Given the description of an element on the screen output the (x, y) to click on. 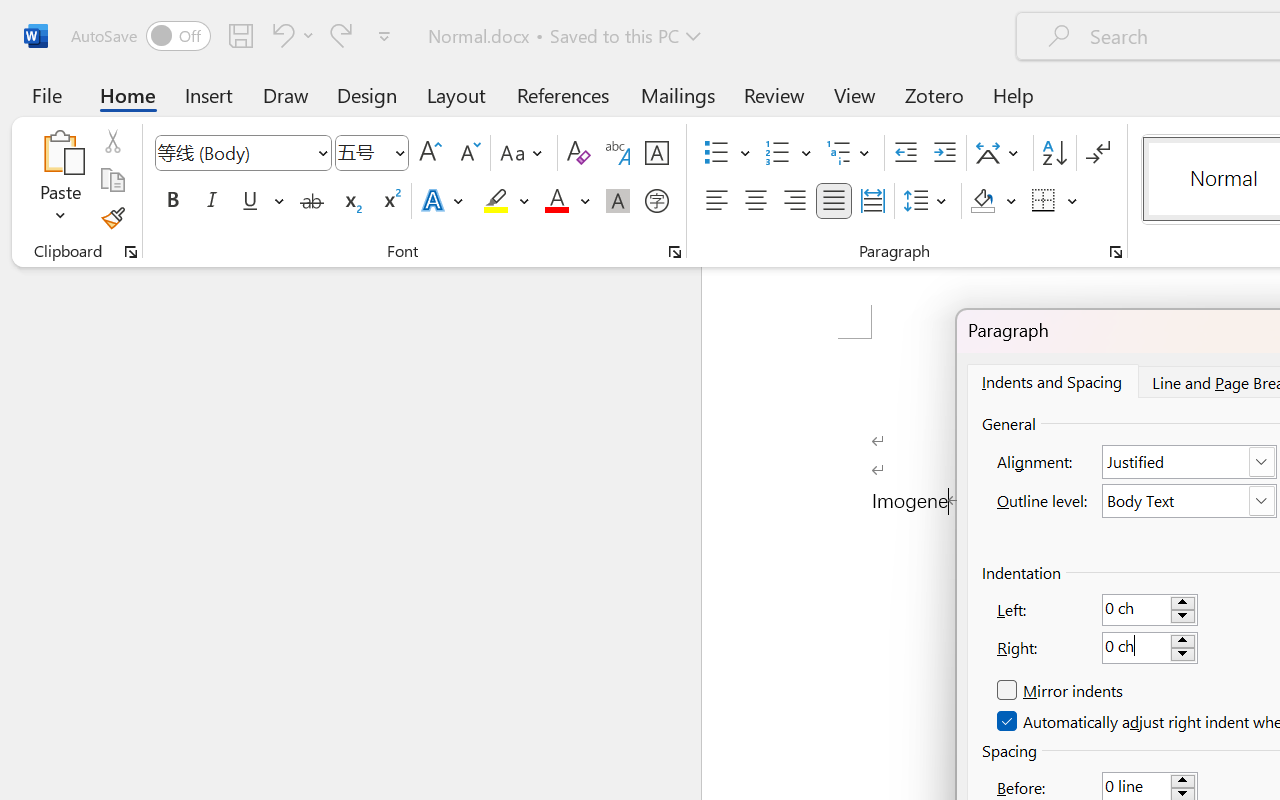
Help (1013, 94)
Left: (1150, 609)
Font Color (567, 201)
